Given the description of an element on the screen output the (x, y) to click on. 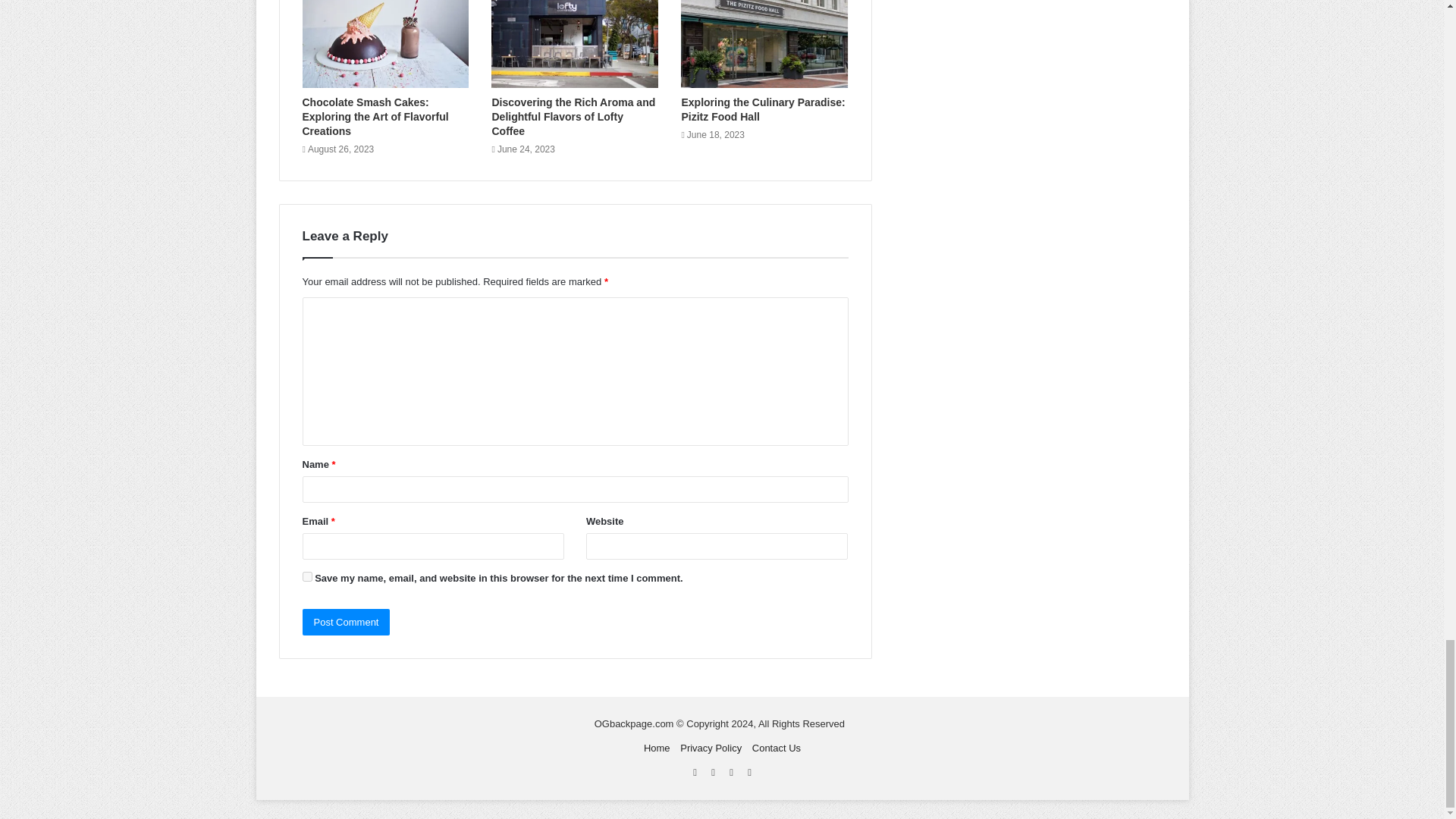
Exploring the Culinary Paradise: Pizitz Food Hall (762, 109)
yes (306, 576)
Post Comment (345, 622)
